Given the description of an element on the screen output the (x, y) to click on. 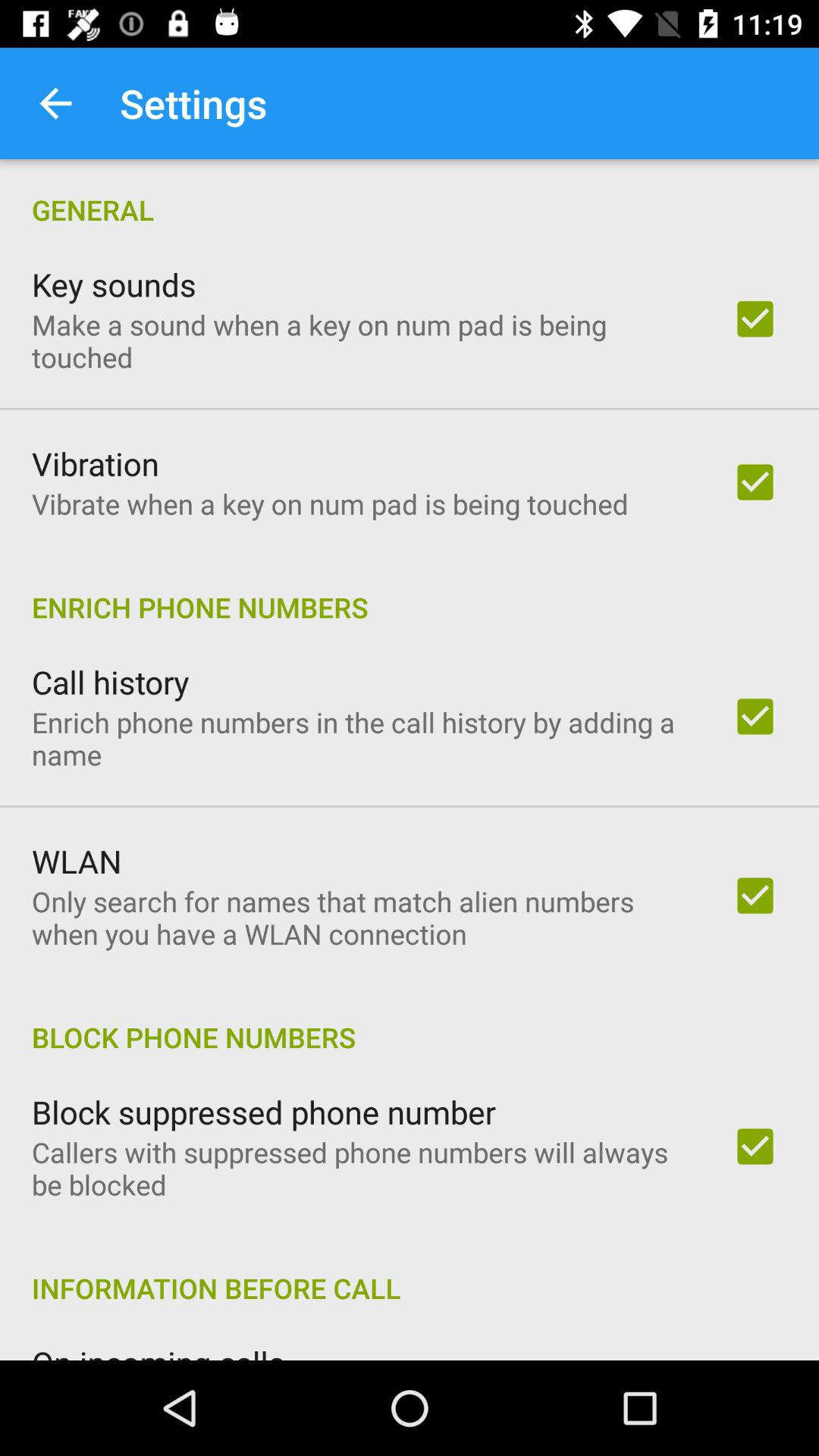
choose general (409, 193)
